Given the description of an element on the screen output the (x, y) to click on. 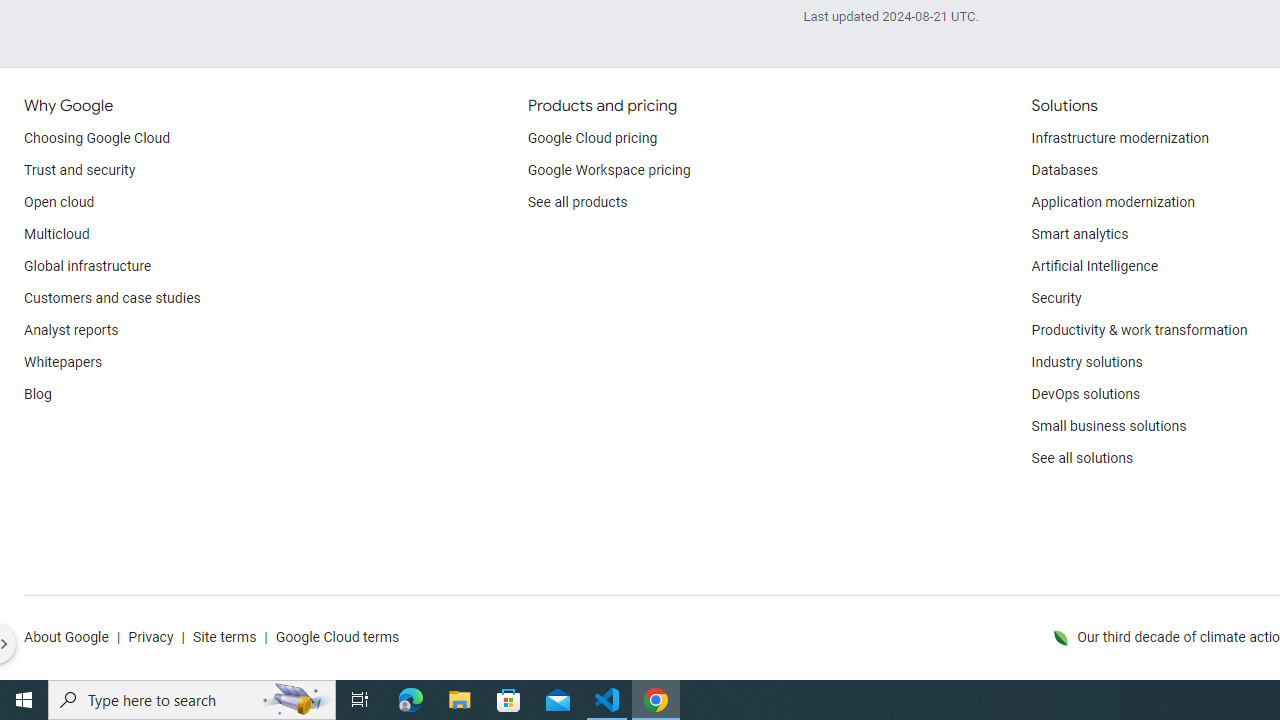
Multicloud (56, 234)
Google Cloud terms (337, 637)
DevOps solutions (1085, 394)
Global infrastructure (88, 266)
Open cloud (59, 202)
Choosing Google Cloud (97, 138)
Analyst reports (71, 331)
Small business solutions (1108, 426)
Smart analytics (1079, 234)
About Google (66, 637)
Infrastructure modernization (1119, 138)
Customers and case studies (112, 298)
Site terms (224, 637)
Blog (38, 394)
